Given the description of an element on the screen output the (x, y) to click on. 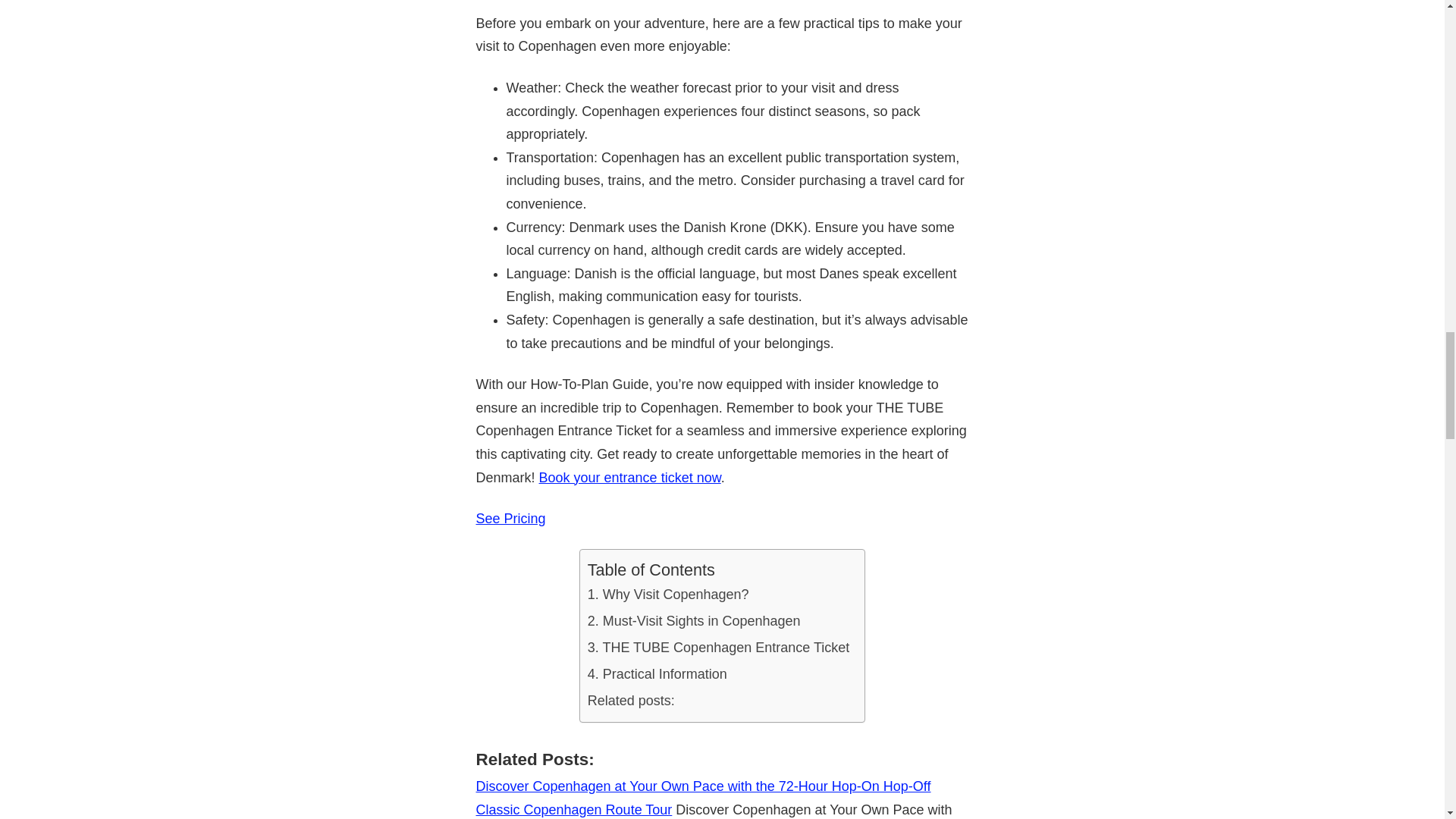
4. Practical Information (657, 673)
1. Why Visit Copenhagen? (668, 594)
Book your entrance ticket now (629, 477)
2. Must-Visit Sights in Copenhagen (694, 621)
Related posts: (631, 700)
4. Practical Information (657, 673)
See Pricing (511, 518)
2. Must-Visit Sights in Copenhagen (694, 621)
